Given the description of an element on the screen output the (x, y) to click on. 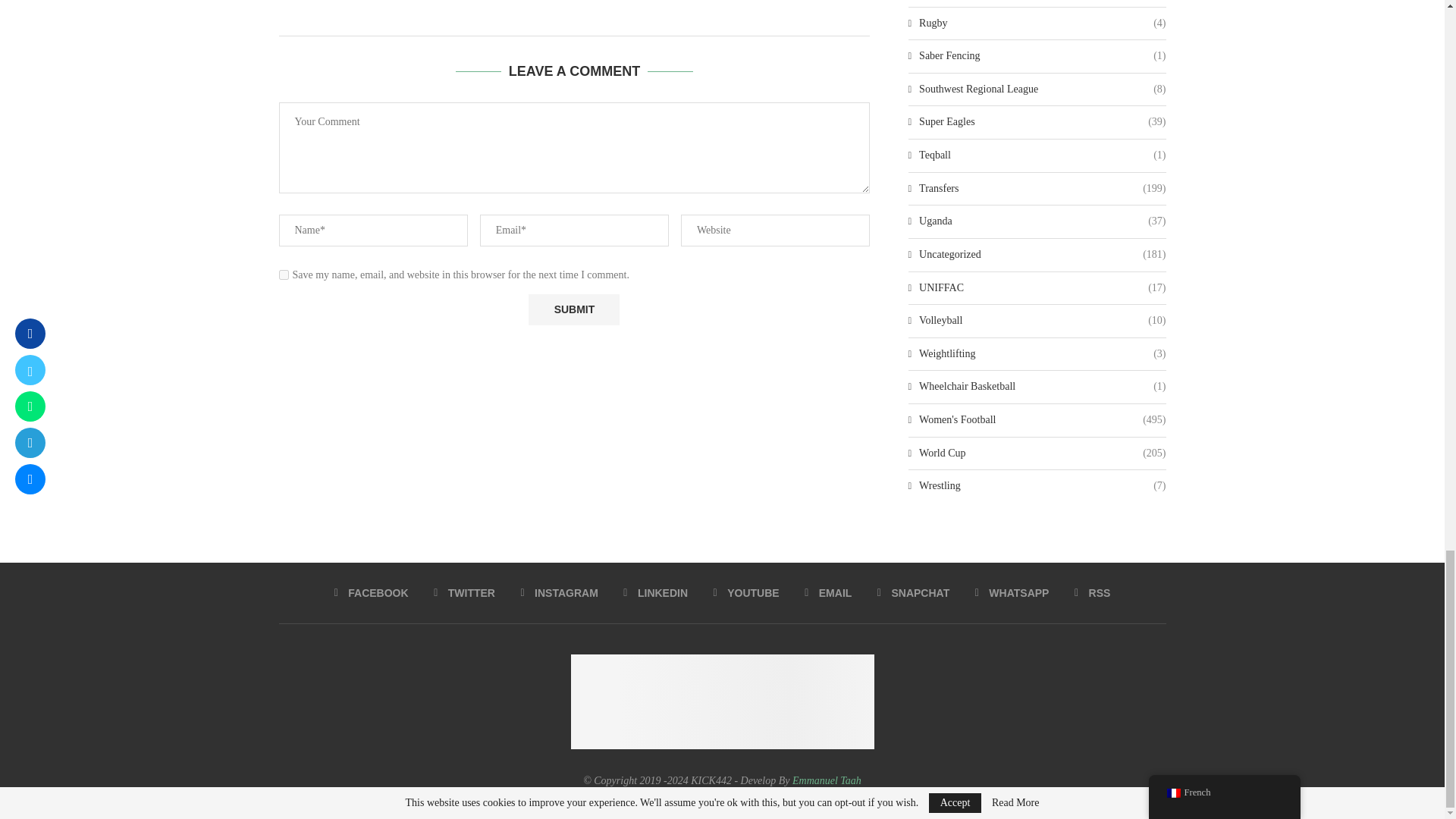
Submit (574, 309)
yes (283, 275)
